Given the description of an element on the screen output the (x, y) to click on. 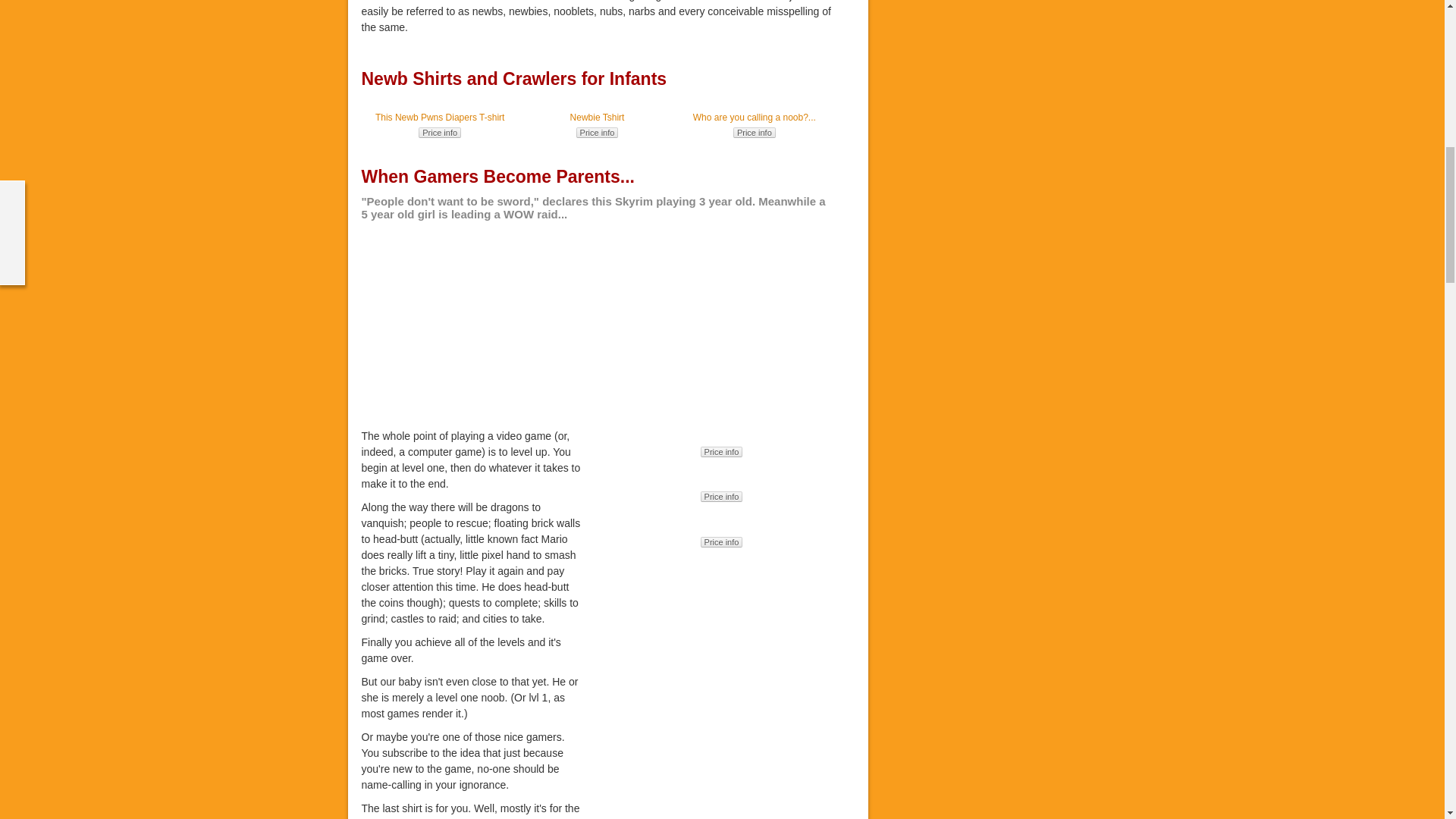
Price info (440, 132)
Price info (597, 132)
This Newb Pwns Diapers T-shirt (440, 117)
Newbie Tshirt (597, 117)
